Given the description of an element on the screen output the (x, y) to click on. 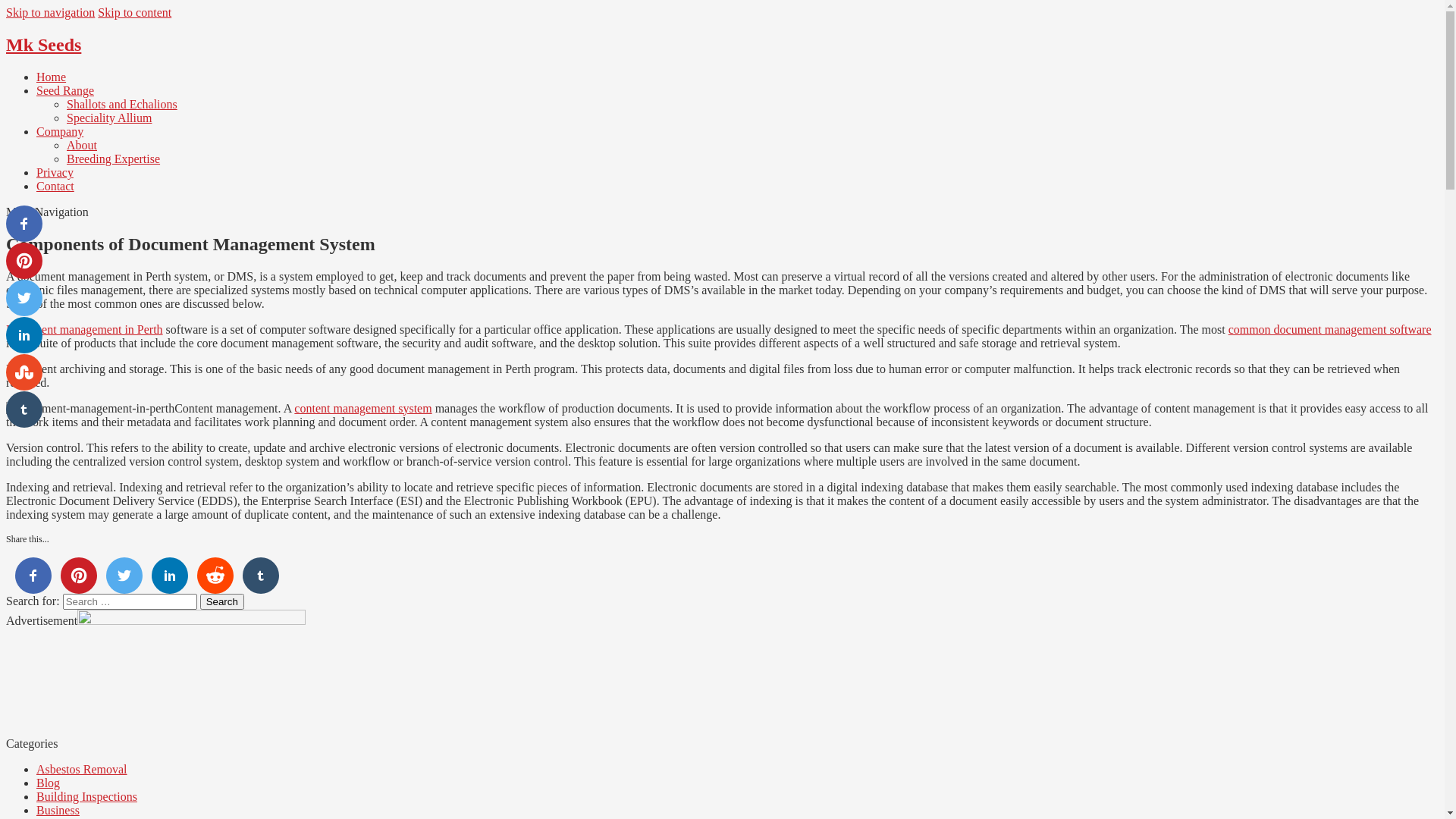
Skip to navigation Element type: text (50, 12)
About Element type: text (81, 144)
Seed Range Element type: text (65, 90)
Shallots and Echalions Element type: text (121, 103)
Business Element type: text (57, 809)
Privacy Element type: text (54, 172)
Building Inspections Element type: text (86, 796)
Document management in Perth Element type: text (84, 329)
Mk Seeds Element type: text (43, 44)
Company Element type: text (59, 131)
Contact Element type: text (55, 185)
Skip to content Element type: text (134, 12)
common document management software Element type: text (1329, 329)
Home Element type: text (50, 76)
Search Element type: text (222, 601)
Breeding Expertise Element type: text (113, 158)
Asbestos Removal Element type: text (81, 768)
content management system Element type: text (362, 407)
Speciality Allium Element type: text (108, 117)
Blog Element type: text (47, 782)
